Given the description of an element on the screen output the (x, y) to click on. 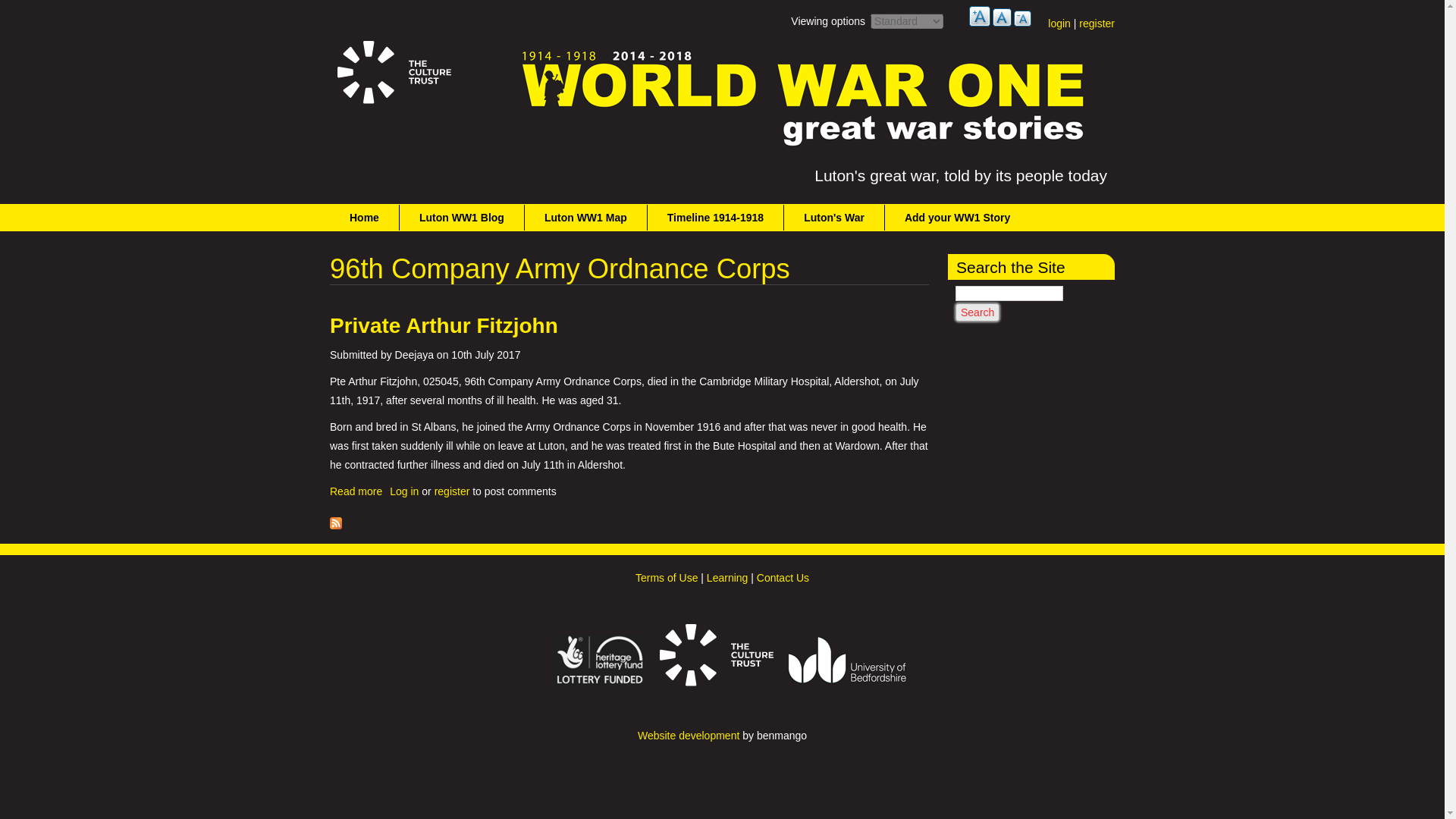
register (451, 491)
Search (976, 312)
Search (976, 312)
Luton's events, people, places and objects during 1914-1919 (834, 217)
A (1021, 18)
Takes you back to the Home page of this site. (364, 217)
Luton WW1 Map (585, 217)
View all our content, from Luton's WW1, as pins on a map.  (585, 217)
login (1059, 23)
Timeline 1914-1918 (715, 217)
Log in (404, 491)
Skip to main content (355, 491)
